Given the description of an element on the screen output the (x, y) to click on. 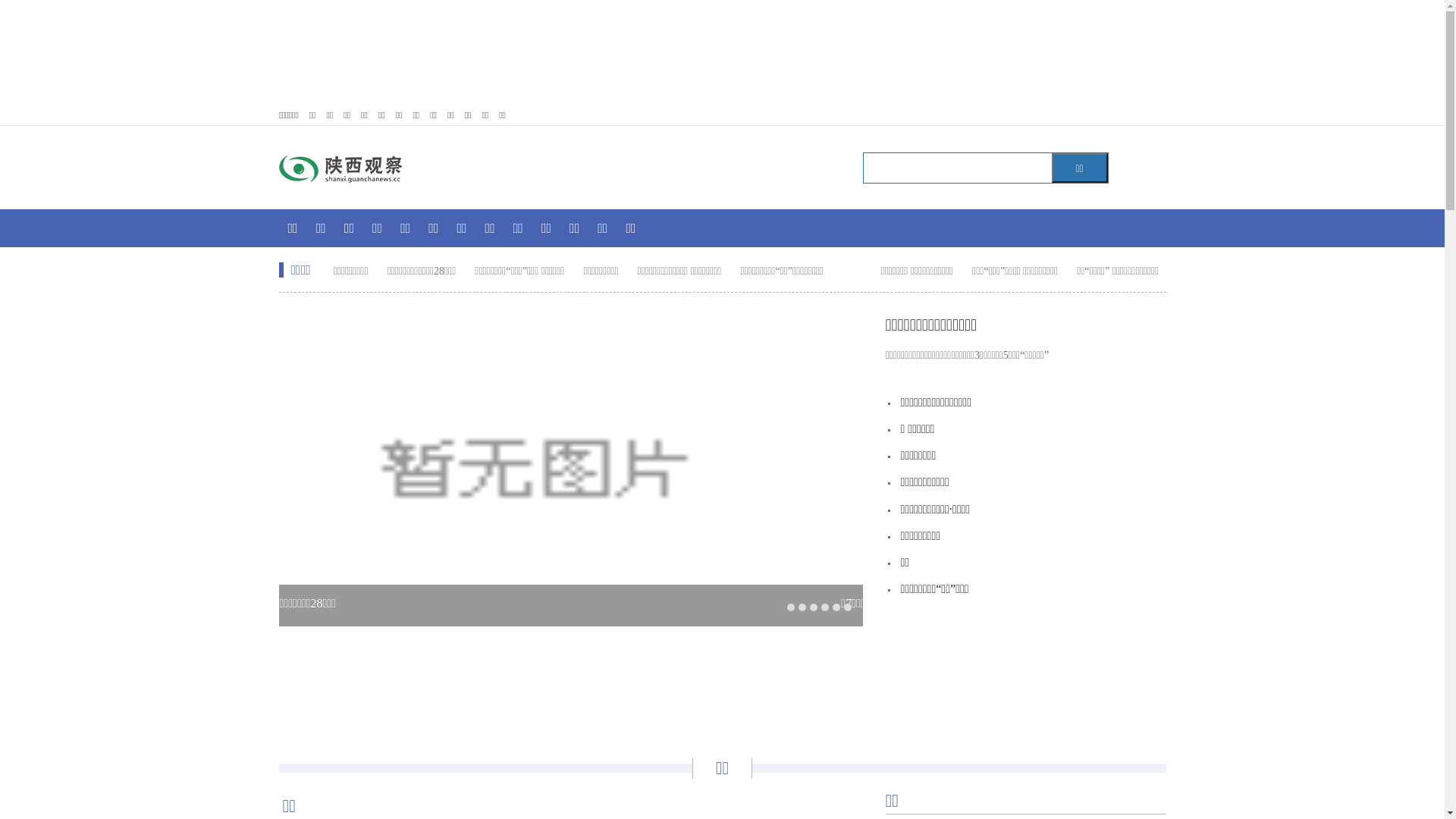
Advertisement Element type: hover (722, 683)
